Given the description of an element on the screen output the (x, y) to click on. 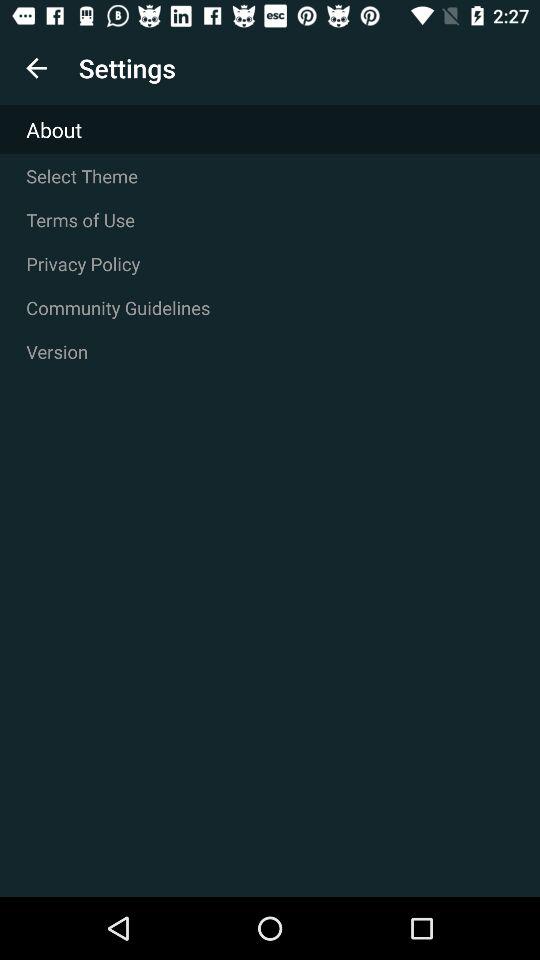
jump to terms of use icon (270, 219)
